Given the description of an element on the screen output the (x, y) to click on. 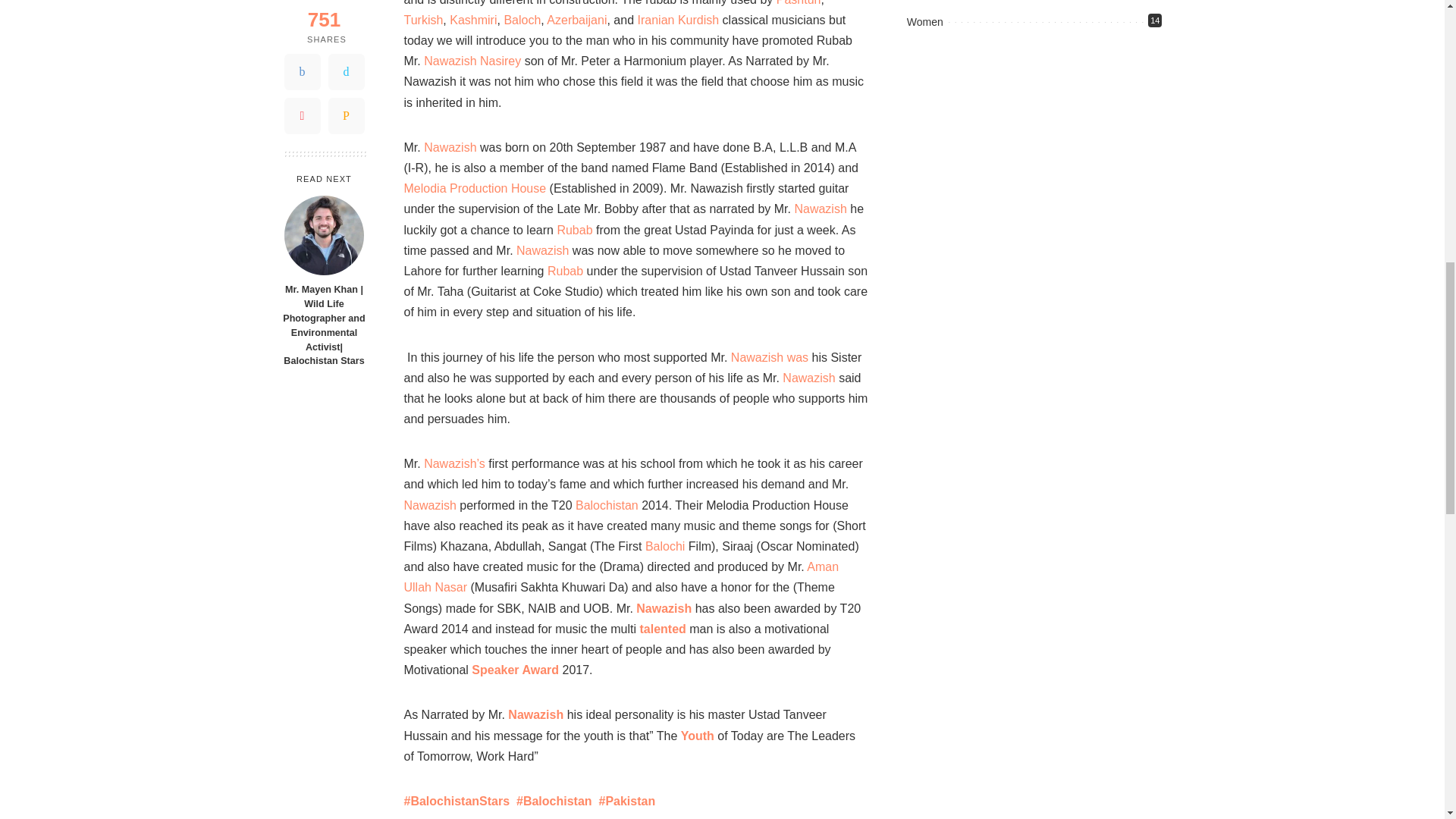
Pinterest (301, 14)
